Given the description of an element on the screen output the (x, y) to click on. 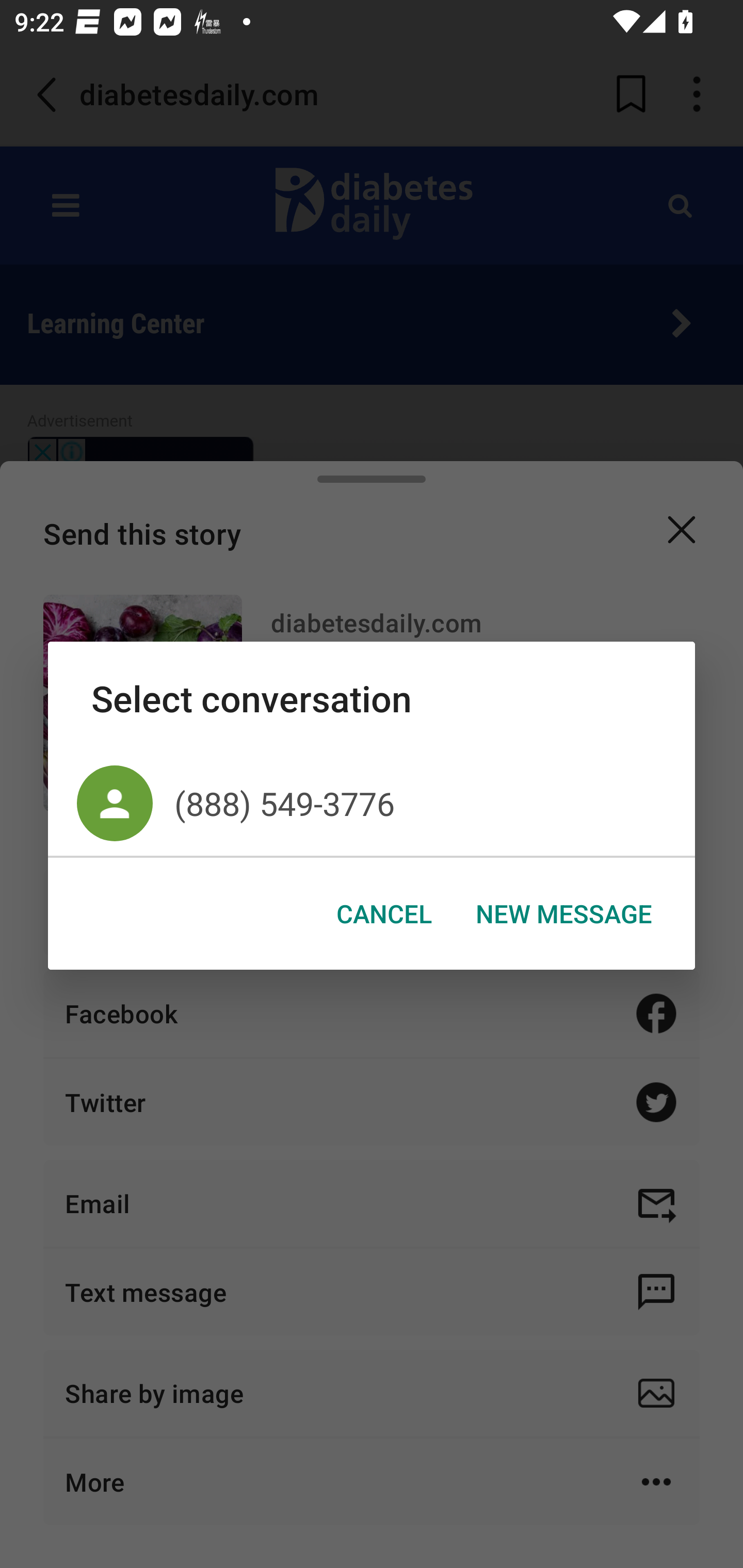
CANCEL (384, 913)
NEW MESSAGE (563, 913)
